Given the description of an element on the screen output the (x, y) to click on. 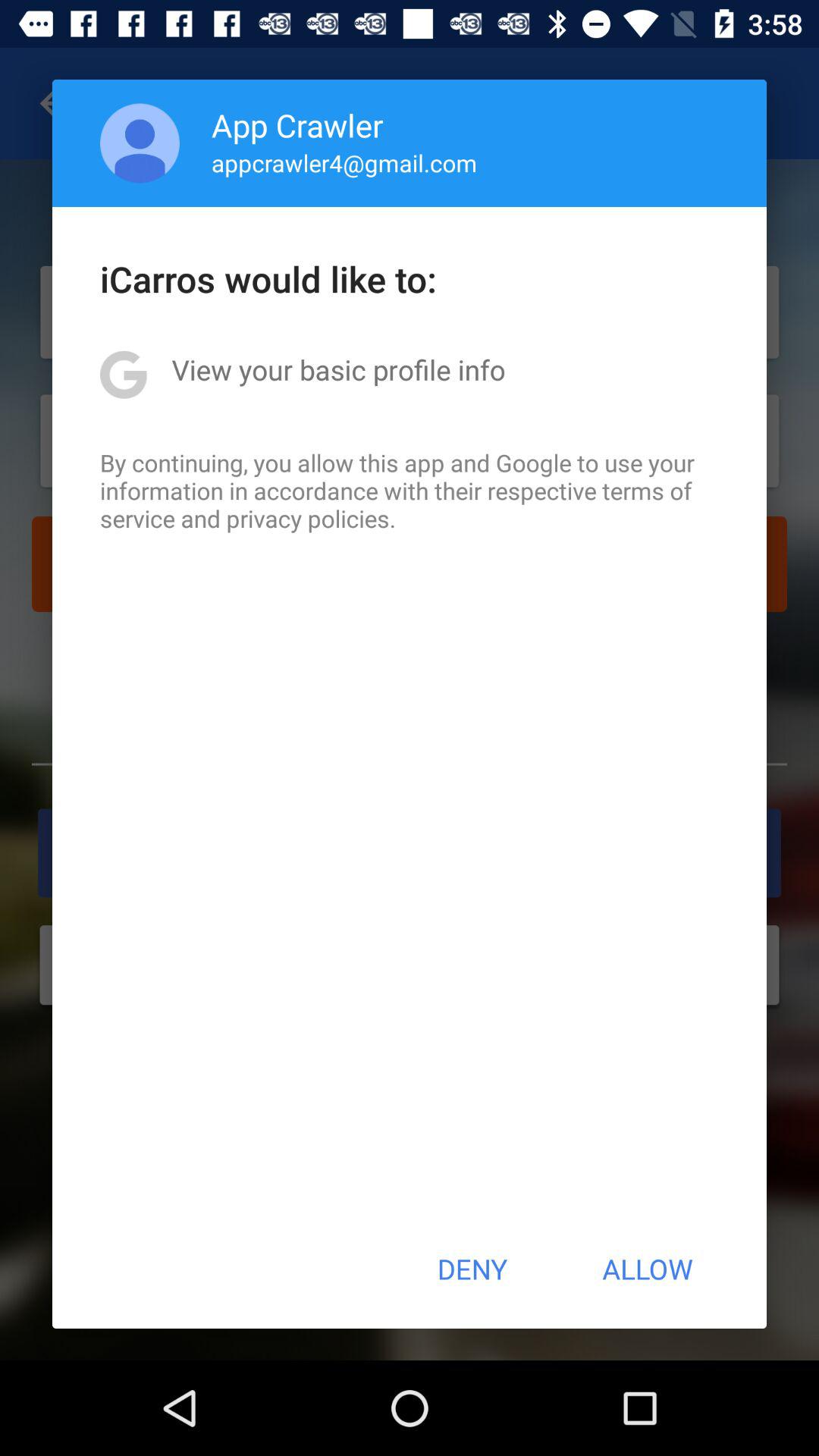
press the item to the left of the allow (471, 1268)
